Given the description of an element on the screen output the (x, y) to click on. 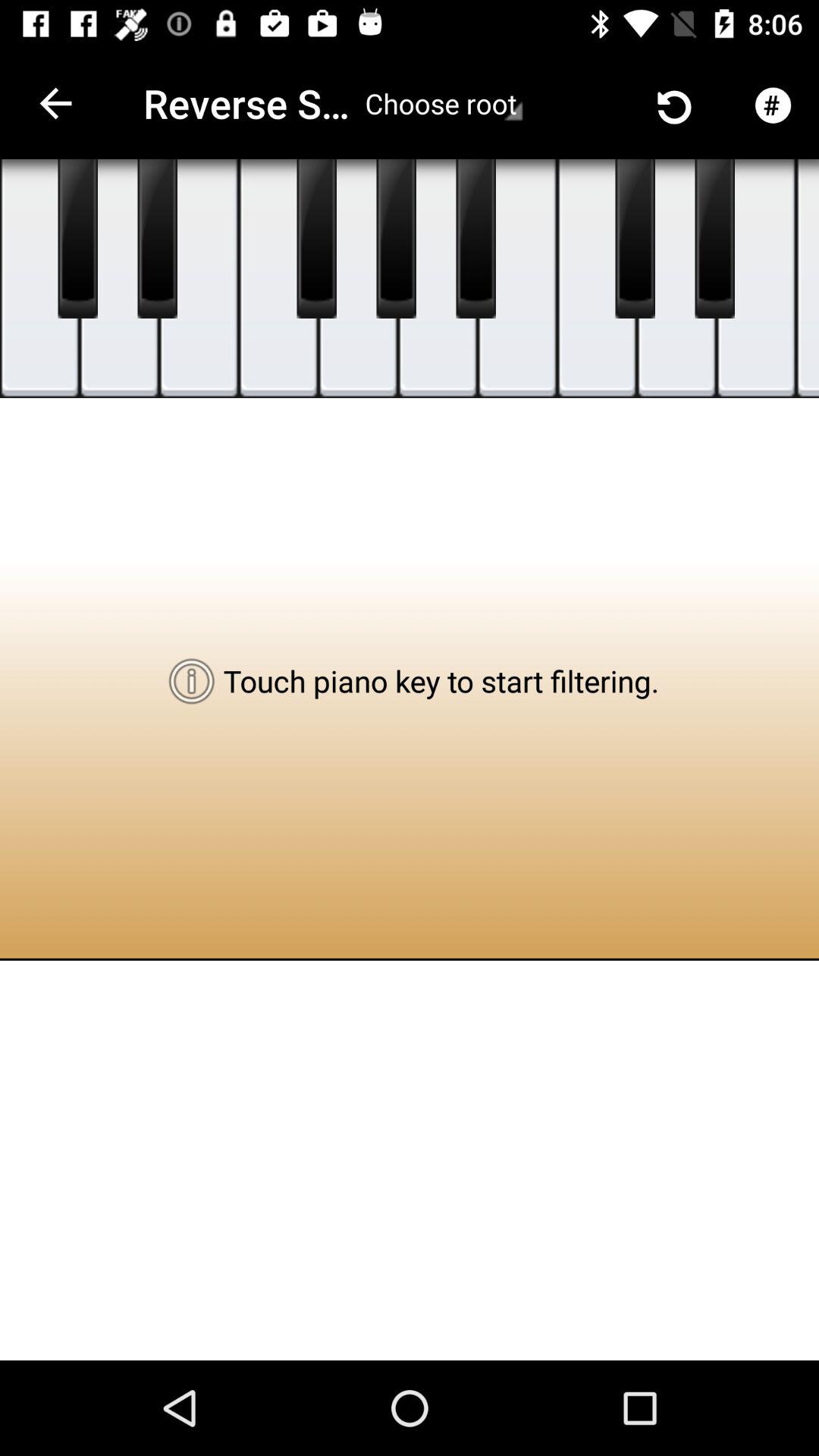
piano keys (517, 278)
